Given the description of an element on the screen output the (x, y) to click on. 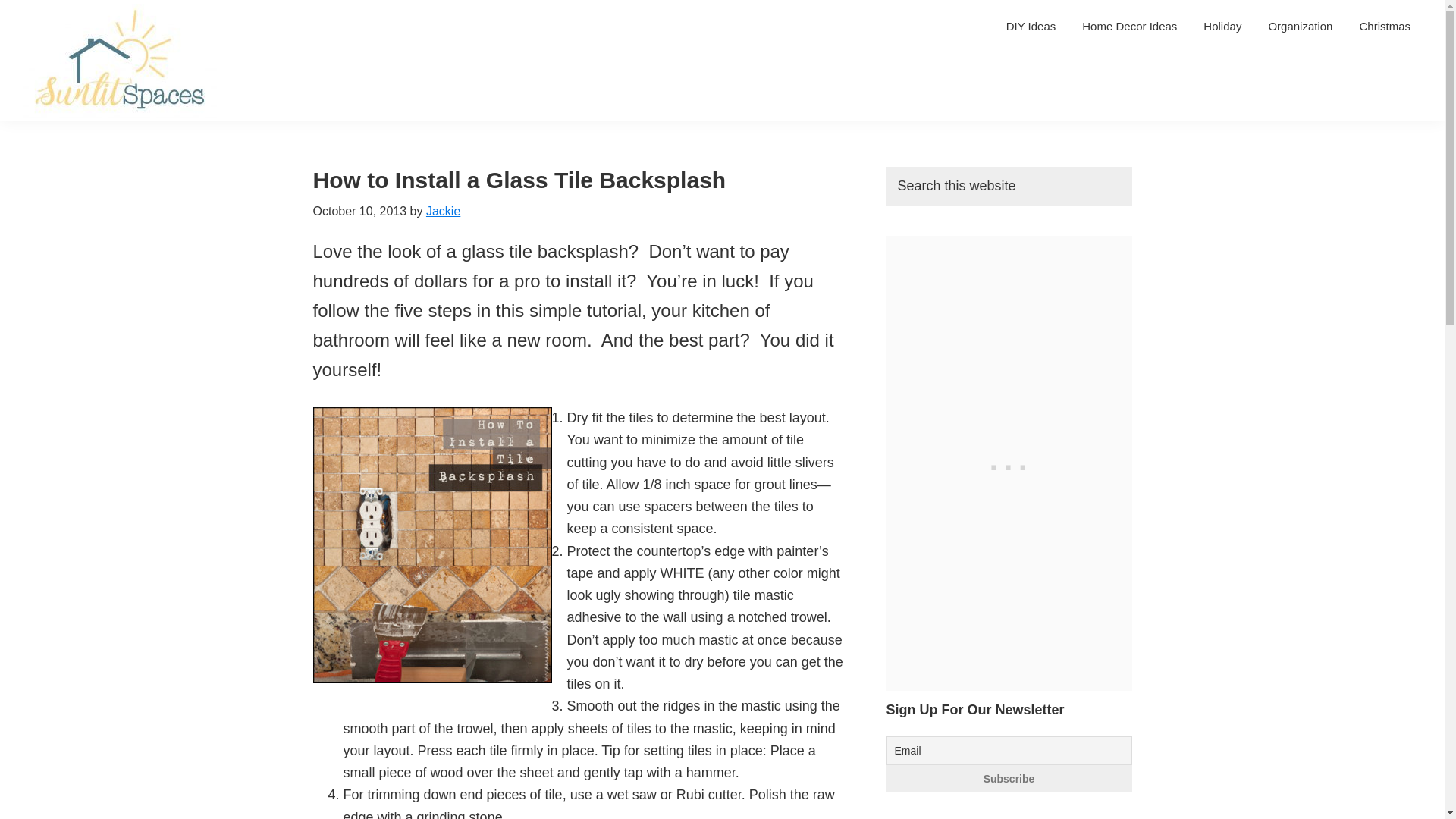
Organization (1299, 25)
Subscribe (1008, 778)
Christmas (1385, 25)
Subscribe (1008, 778)
DIY Ideas (1030, 25)
Home Decor Ideas (1129, 25)
Holiday (1222, 25)
Jackie (443, 210)
